Given the description of an element on the screen output the (x, y) to click on. 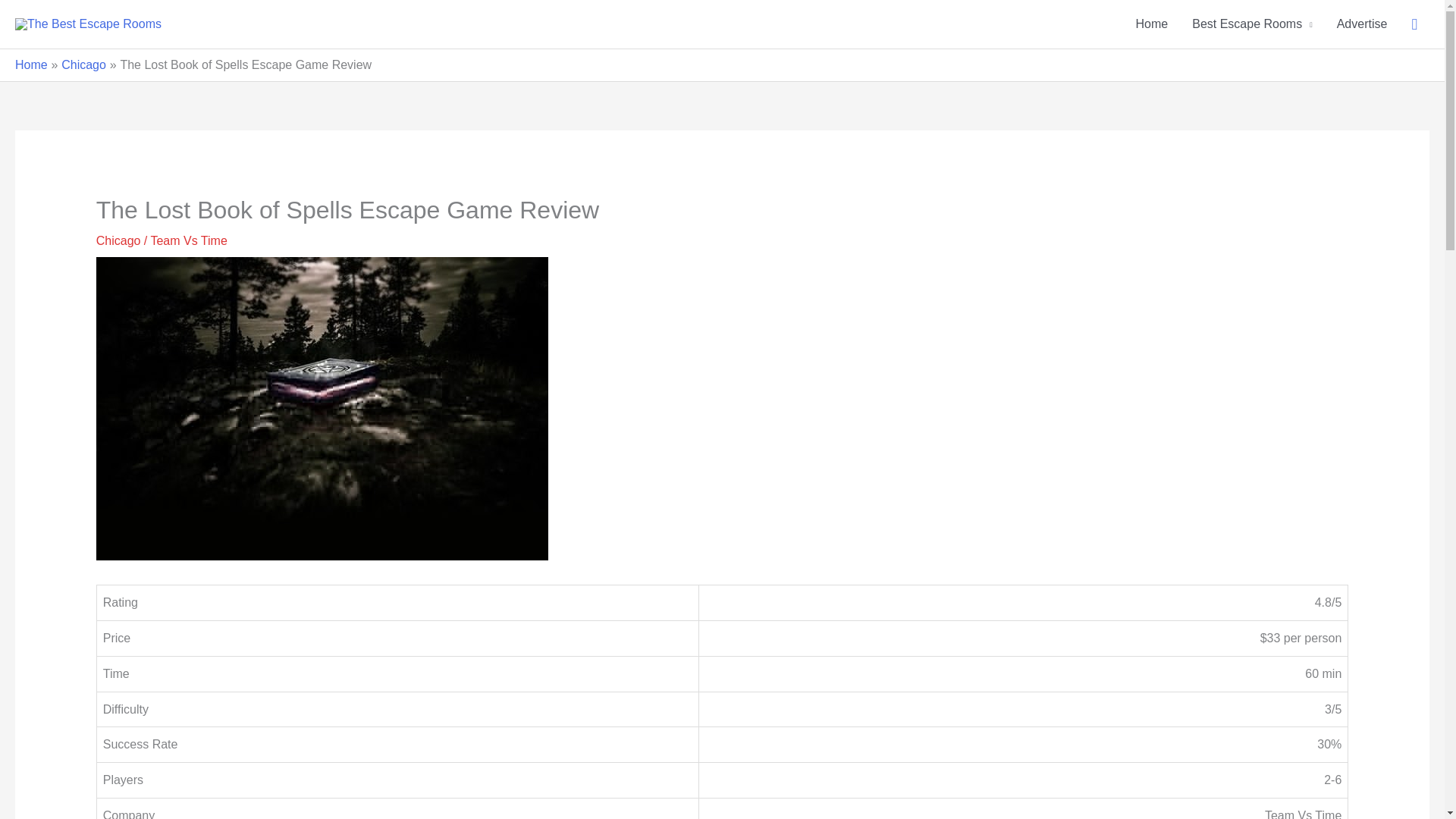
Team Vs Time (188, 240)
Best Escape Rooms (1251, 24)
Advertise (1361, 24)
Home (31, 64)
Home (1152, 24)
Chicago (83, 64)
Chicago (118, 240)
